Given the description of an element on the screen output the (x, y) to click on. 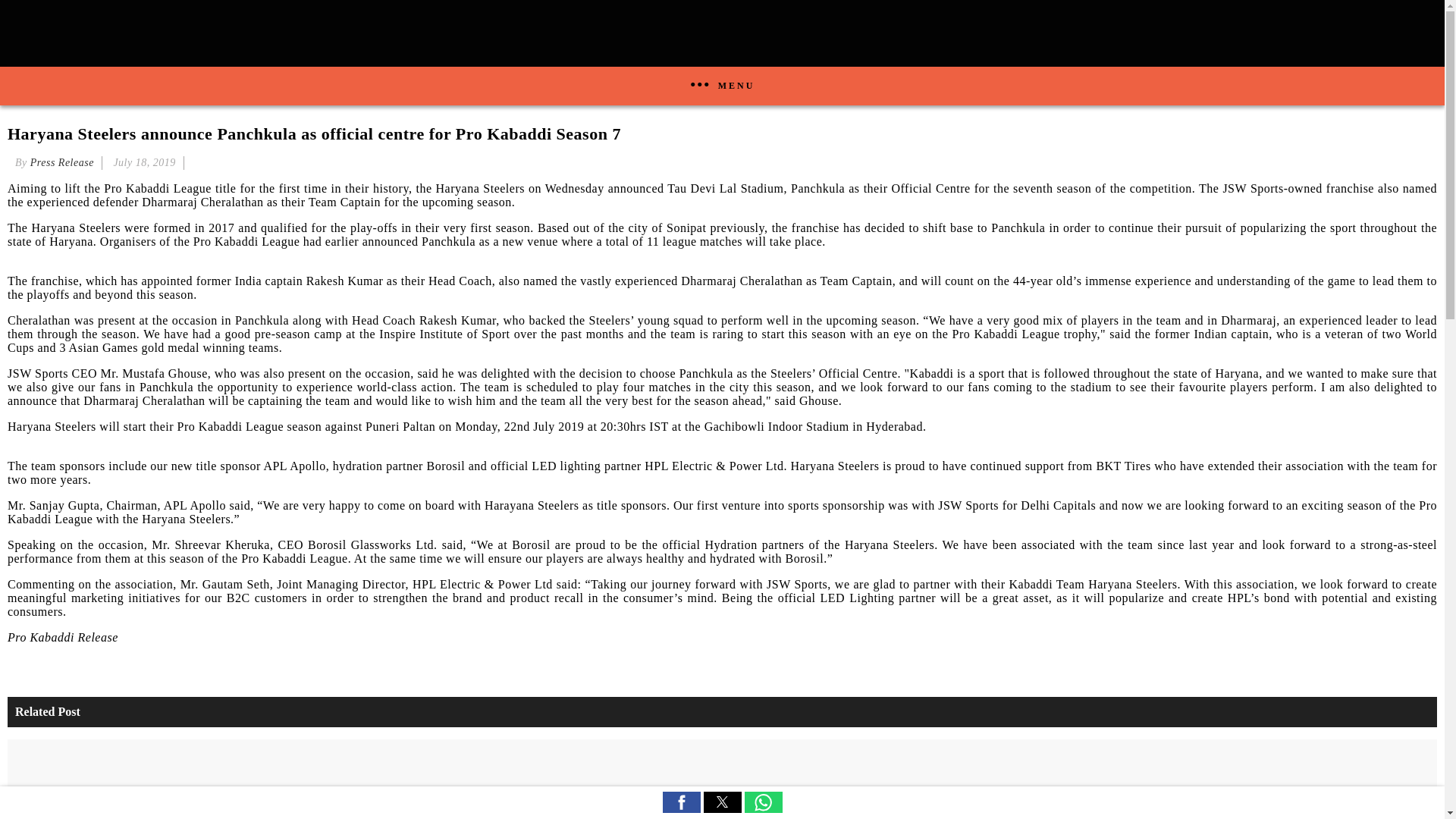
Press Release (62, 162)
